Given the description of an element on the screen output the (x, y) to click on. 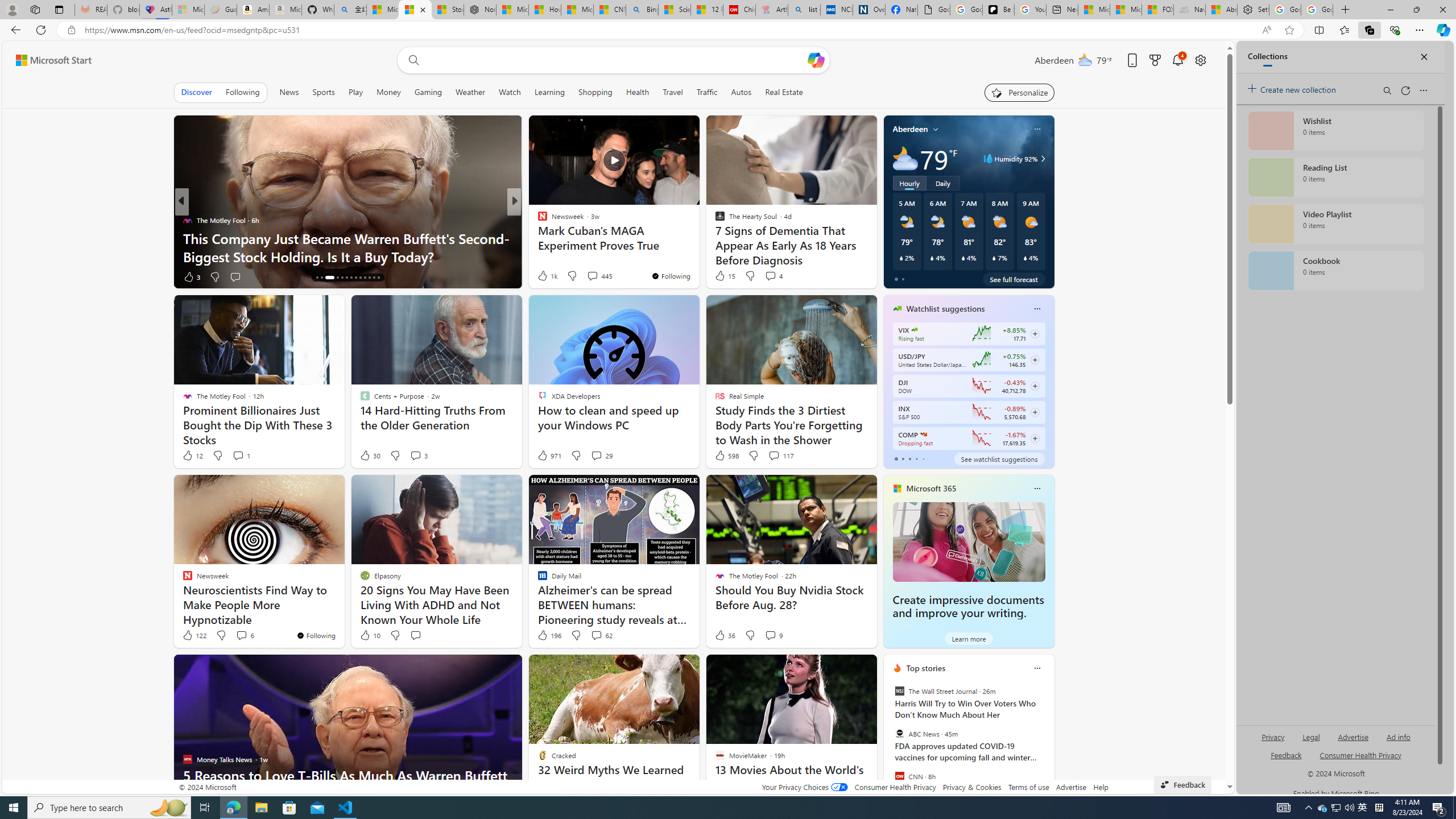
previous (888, 741)
Your Privacy Choices (804, 786)
AutomationID: genId96 (1285, 759)
AutomationID: tab-19 (346, 277)
12 Popular Science Lies that Must be Corrected (706, 9)
109 Like (545, 276)
30 Like (368, 455)
Business Insider (537, 219)
My location (936, 128)
